Given the description of an element on the screen output the (x, y) to click on. 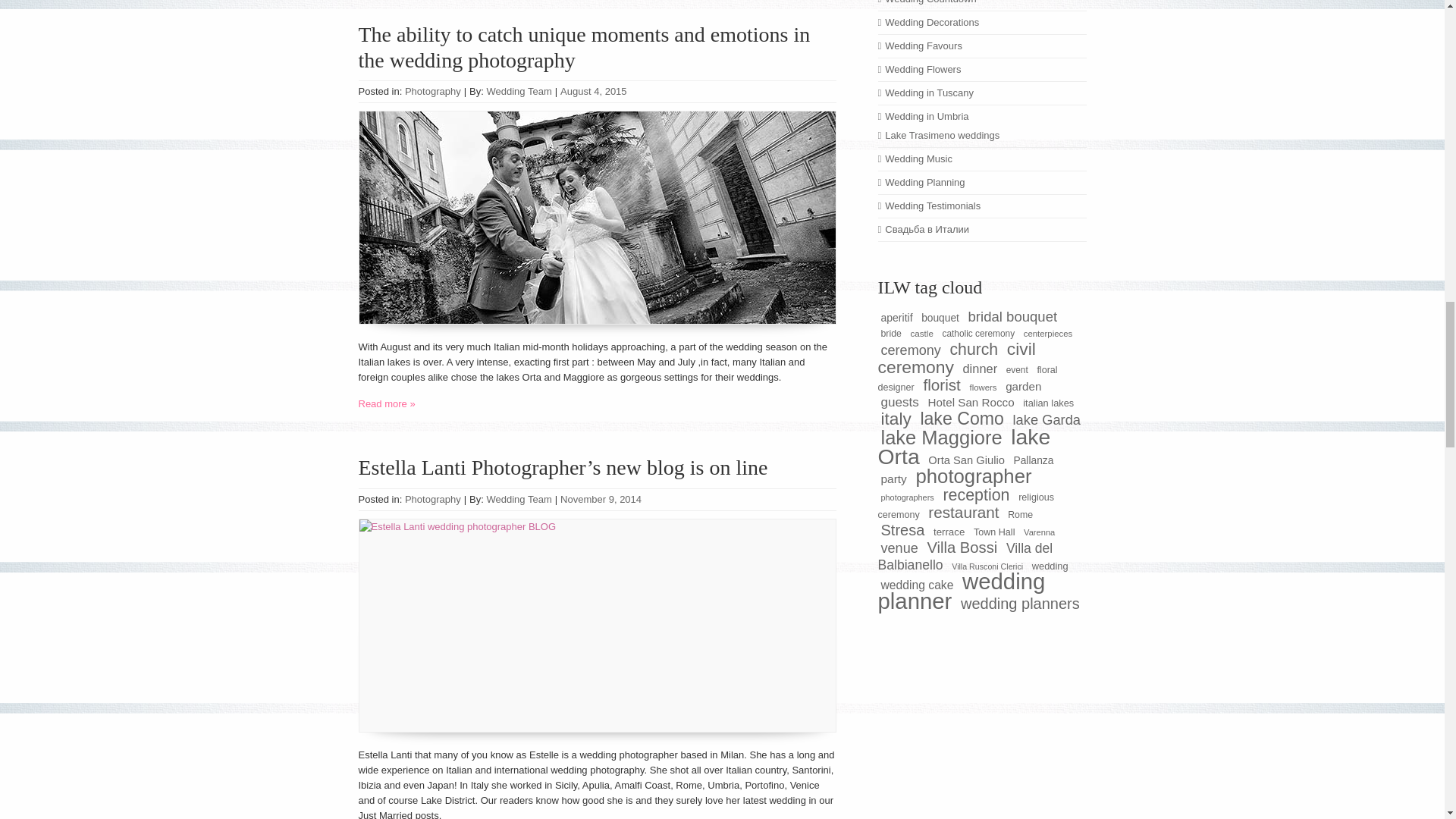
August 4, 2015 (593, 91)
Photography (432, 499)
Photography (432, 91)
Wedding Team (518, 91)
Wedding Team (518, 499)
November 9, 2014 (601, 499)
